Given the description of an element on the screen output the (x, y) to click on. 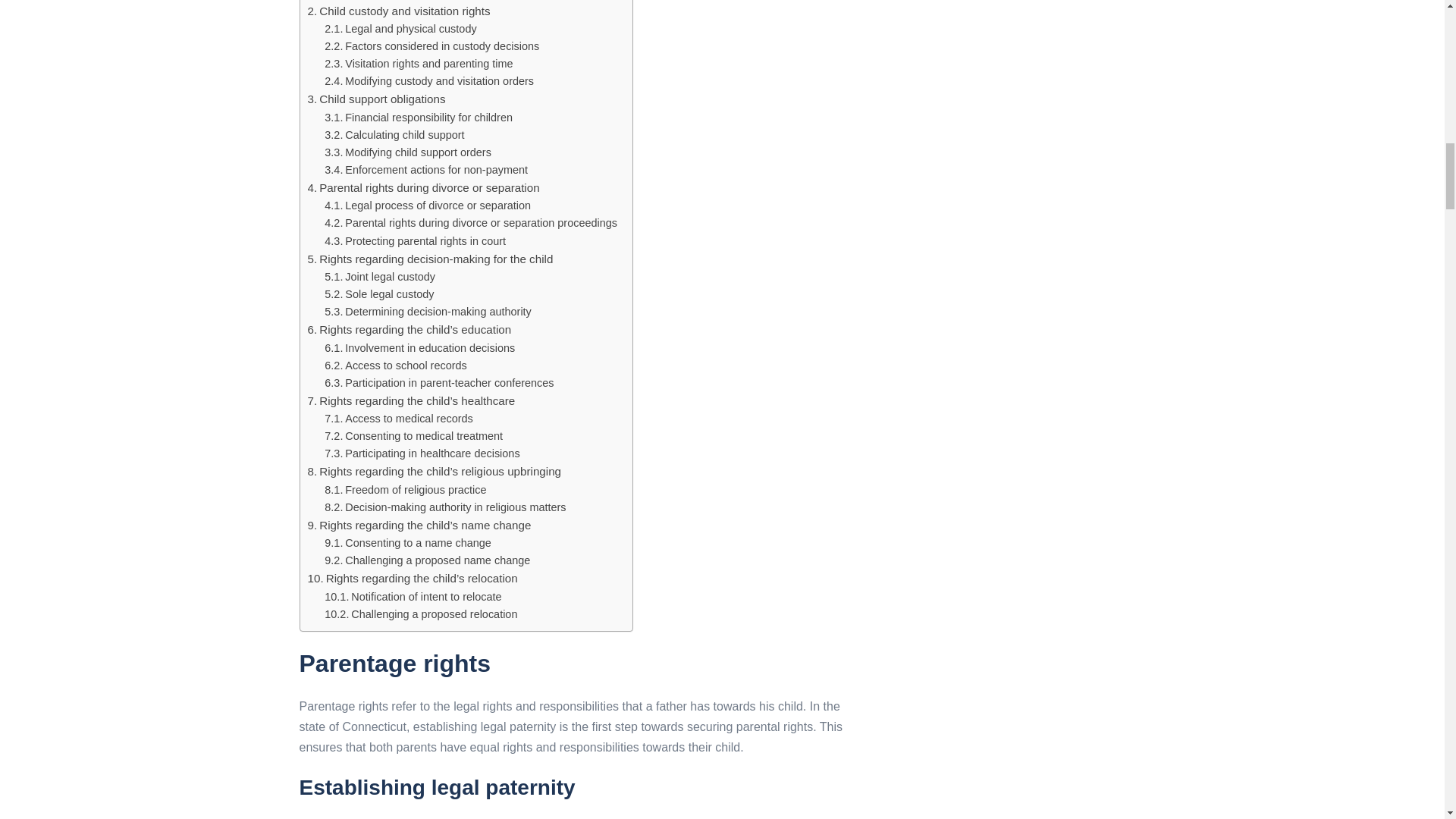
Legal process of divorce or separation (427, 205)
Enforcement actions for non-payment (425, 170)
Calculating child support (394, 135)
Parental rights during divorce or separation proceedings (470, 222)
Modifying child support orders (408, 152)
Modifying custody and visitation orders (429, 81)
Modifying custody and visitation orders (429, 81)
Child support obligations (376, 99)
Legal and physical custody (400, 28)
Protecting parental rights in court (414, 241)
Child support obligations (376, 99)
Child custody and visitation rights (398, 11)
Financial responsibility for children (418, 117)
